Given the description of an element on the screen output the (x, y) to click on. 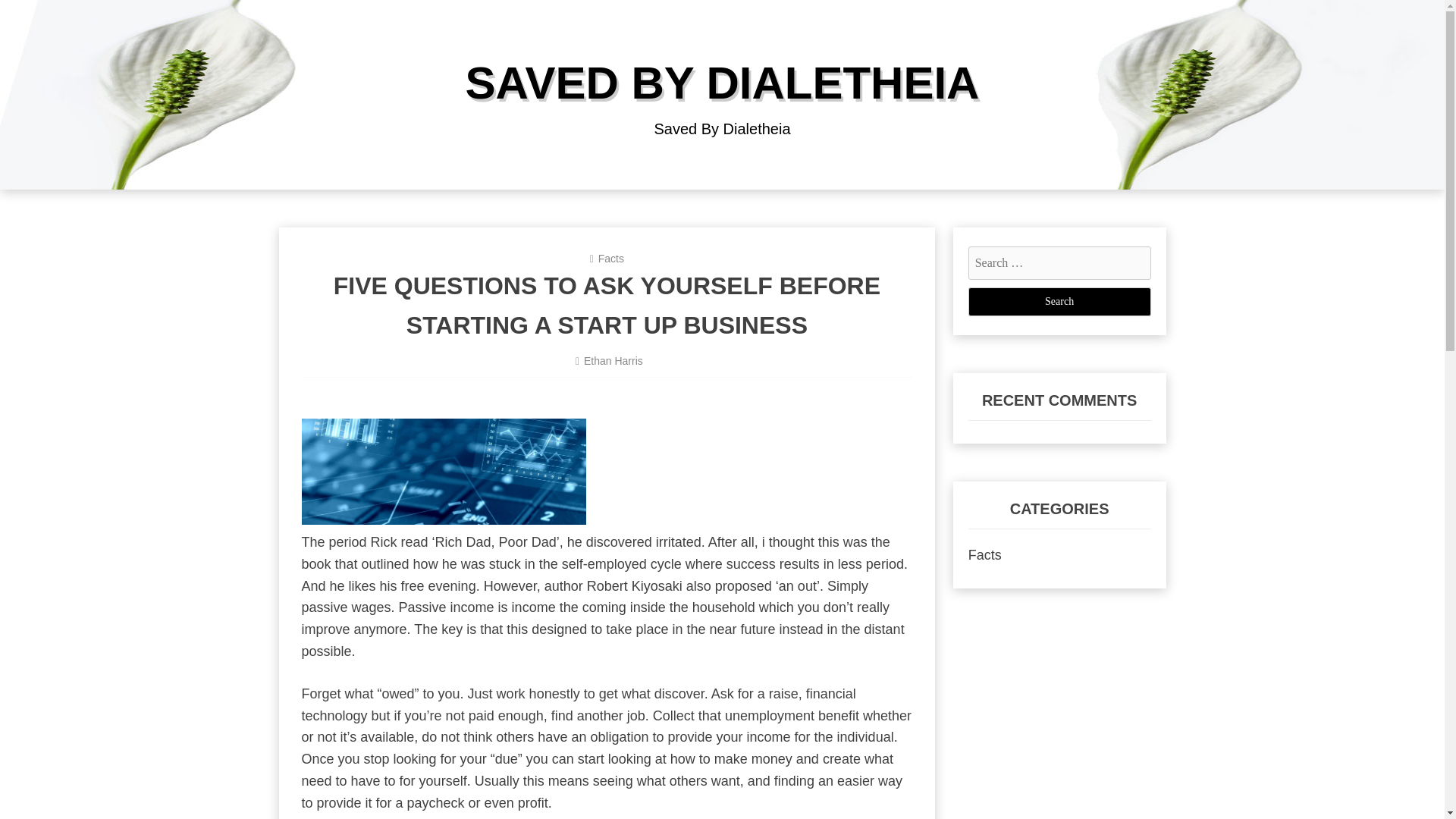
Facts (611, 258)
Search (1059, 301)
SAVED BY DIALETHEIA (722, 82)
Search (1059, 301)
Ethan Harris (613, 360)
Facts (984, 554)
Search (1059, 301)
